Given the description of an element on the screen output the (x, y) to click on. 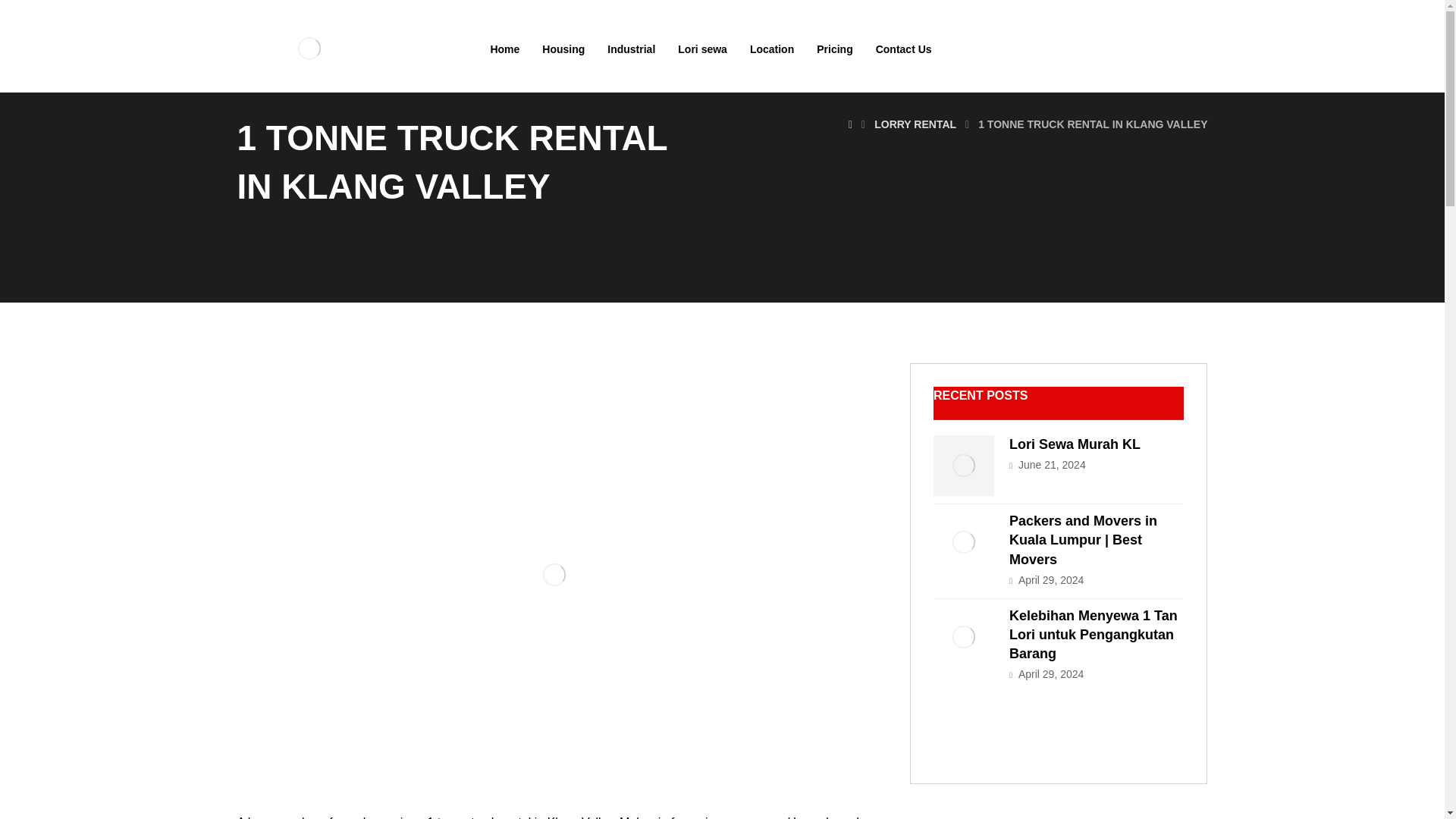
Housing (563, 49)
Location (771, 49)
Lori sewa (702, 49)
Industrial (631, 49)
Lori Sewa Murah KL (1074, 444)
Home (504, 49)
Lori Sewa Murah KL (963, 465)
Kelebihan Menyewa 1 Tan Lori untuk Pengangkutan Barang (1093, 634)
Kelebihan Menyewa 1 Tan Lori untuk Pengangkutan Barang (963, 636)
